Given the description of an element on the screen output the (x, y) to click on. 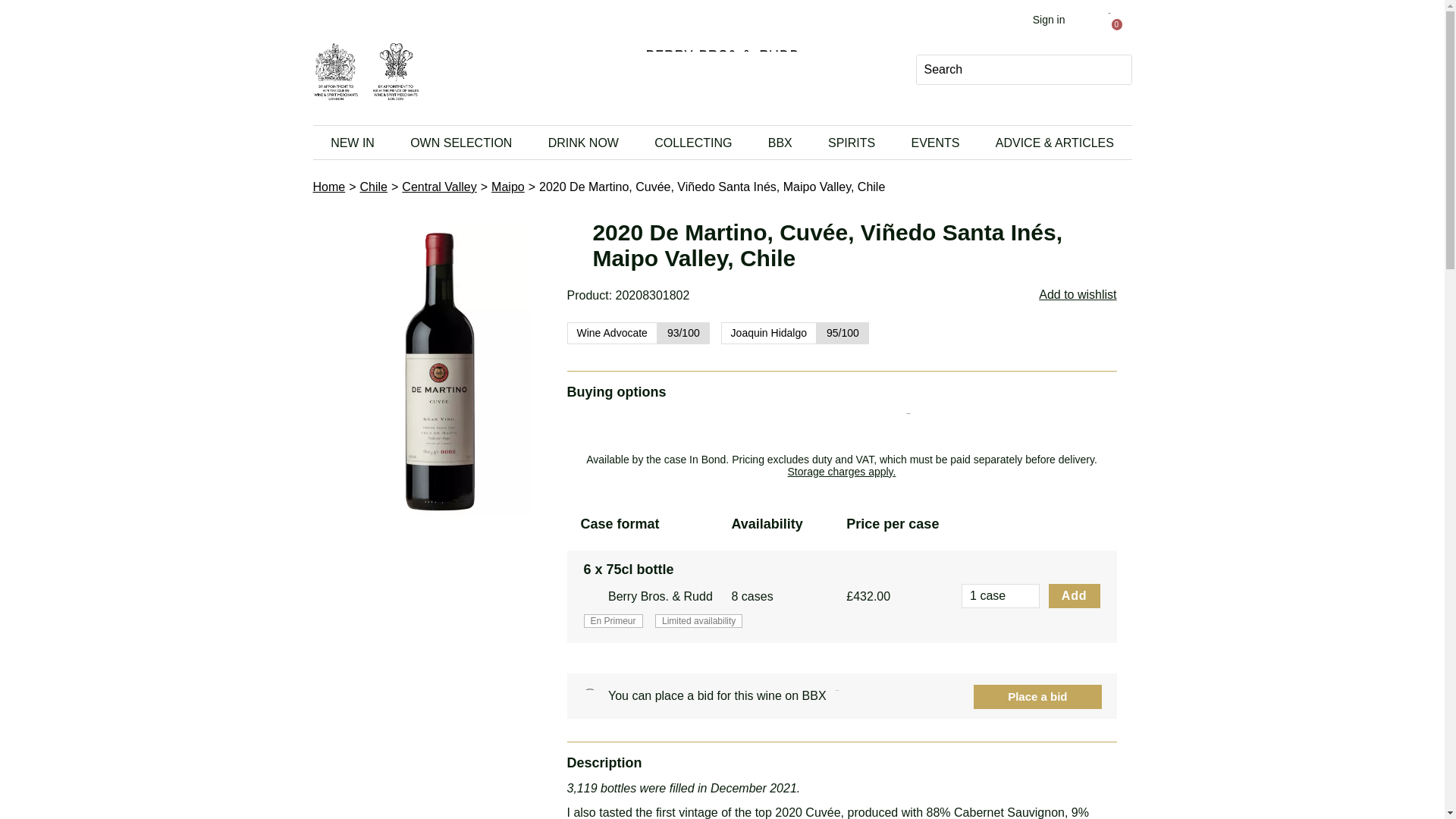
0 (1108, 25)
OWN SELECTION (461, 143)
NEW IN (352, 143)
NEW IN (352, 143)
Sign in (1063, 19)
Select (22, 17)
